Given the description of an element on the screen output the (x, y) to click on. 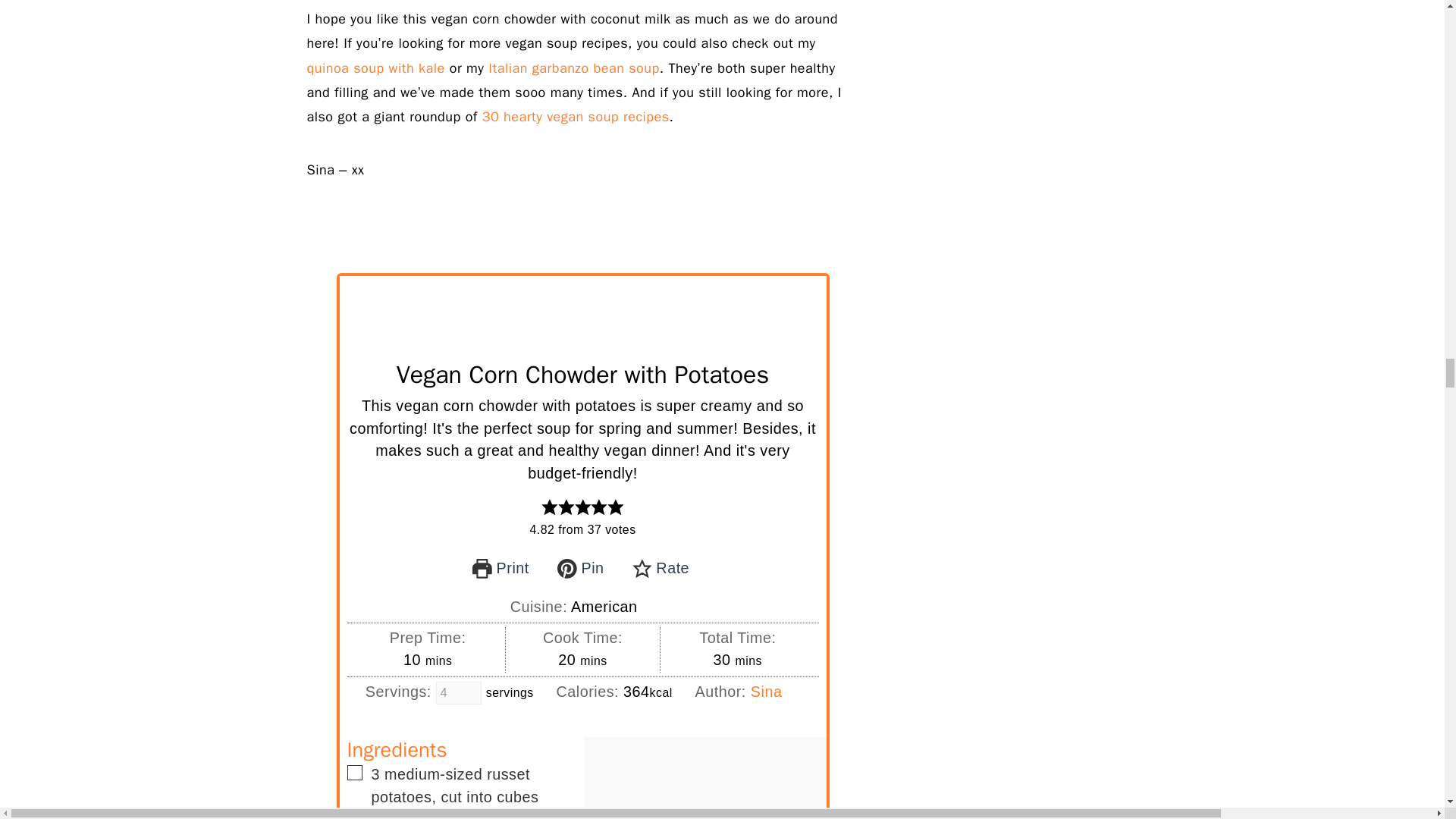
4 (458, 692)
